Given the description of an element on the screen output the (x, y) to click on. 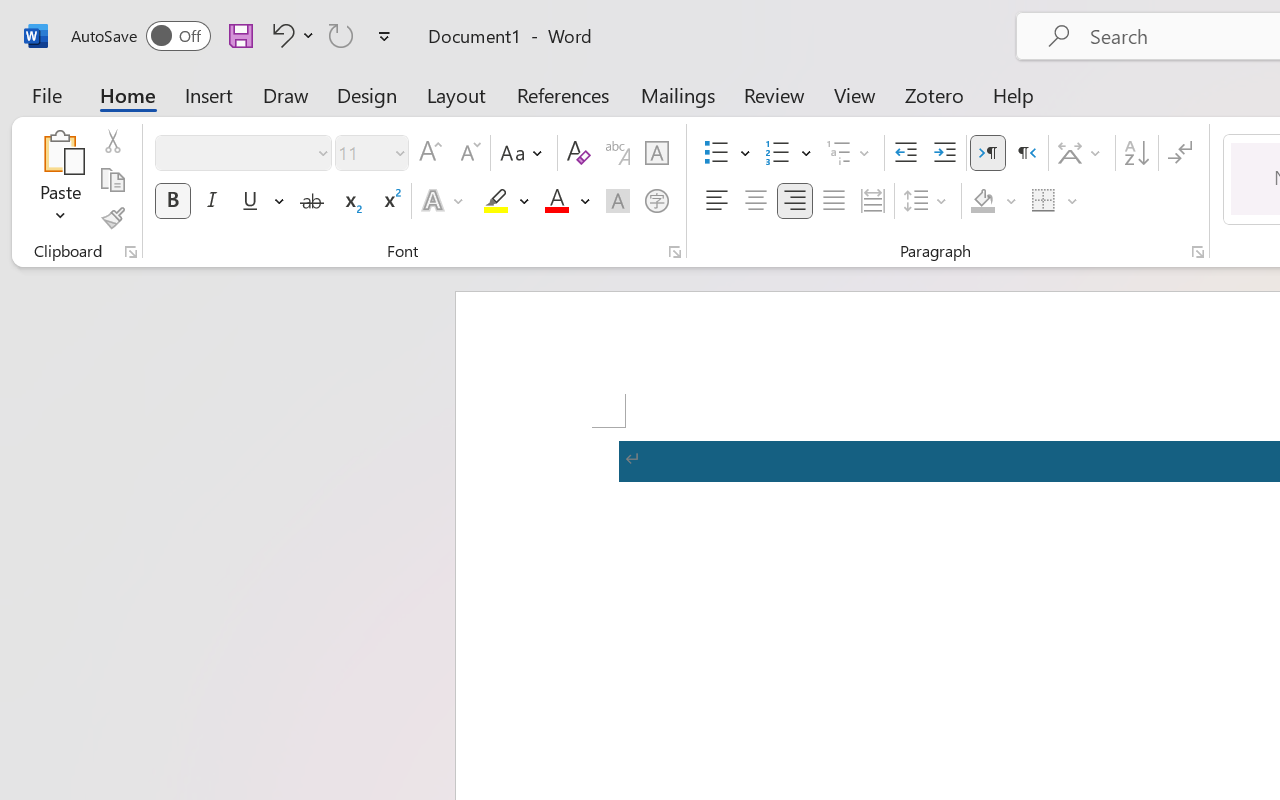
Undo (290, 35)
Undo (280, 35)
Shading No Color (982, 201)
Text Highlight Color RGB(255, 255, 0) (495, 201)
